Given the description of an element on the screen output the (x, y) to click on. 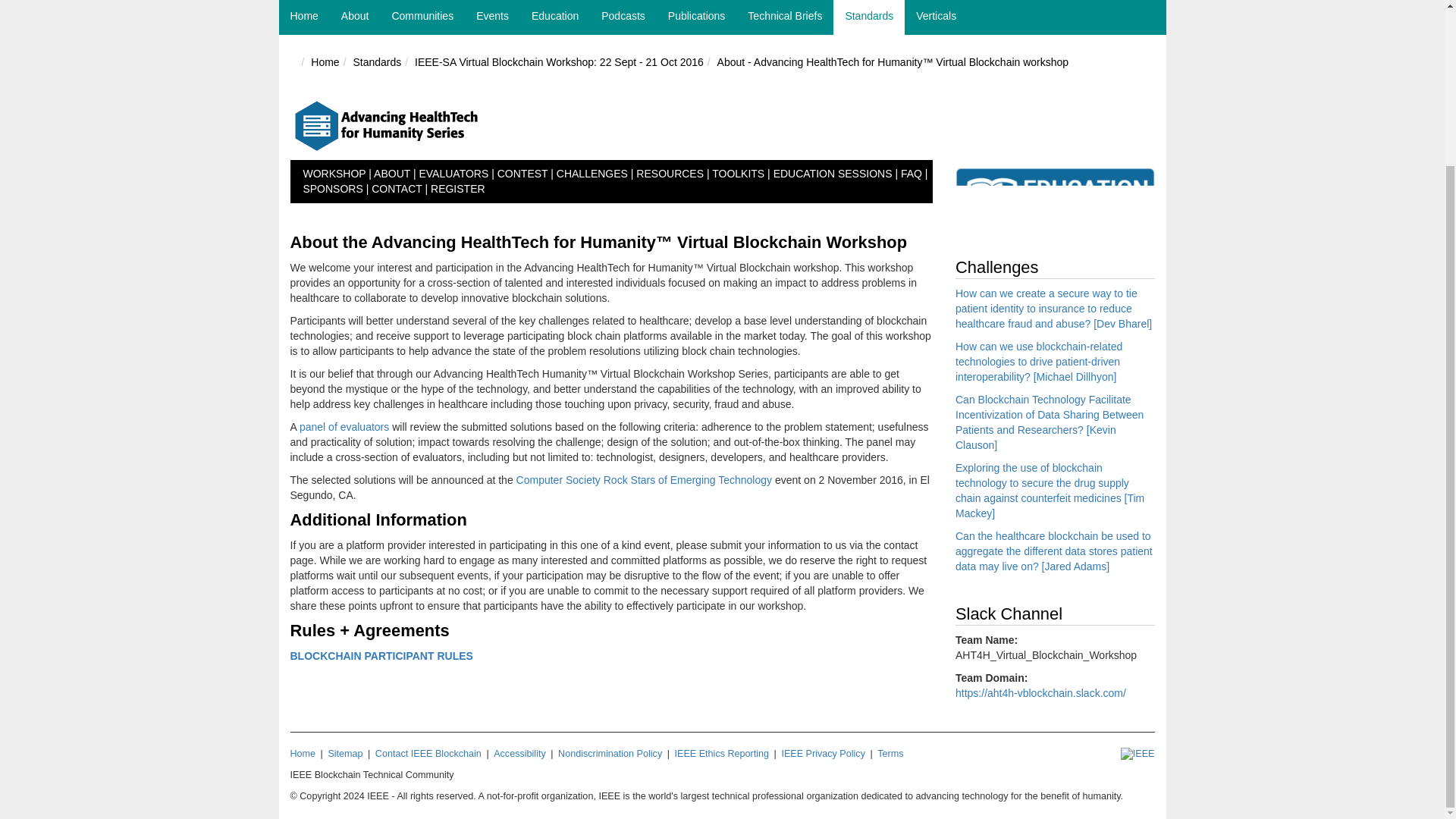
Podcasts (622, 17)
Sitemap (344, 753)
Contact IEEE Blockchain (428, 753)
About (355, 17)
Home (304, 17)
Events (491, 17)
Standards (868, 17)
Accessibility (519, 753)
Publications (696, 17)
Nondiscrimination Policy (609, 753)
